Given the description of an element on the screen output the (x, y) to click on. 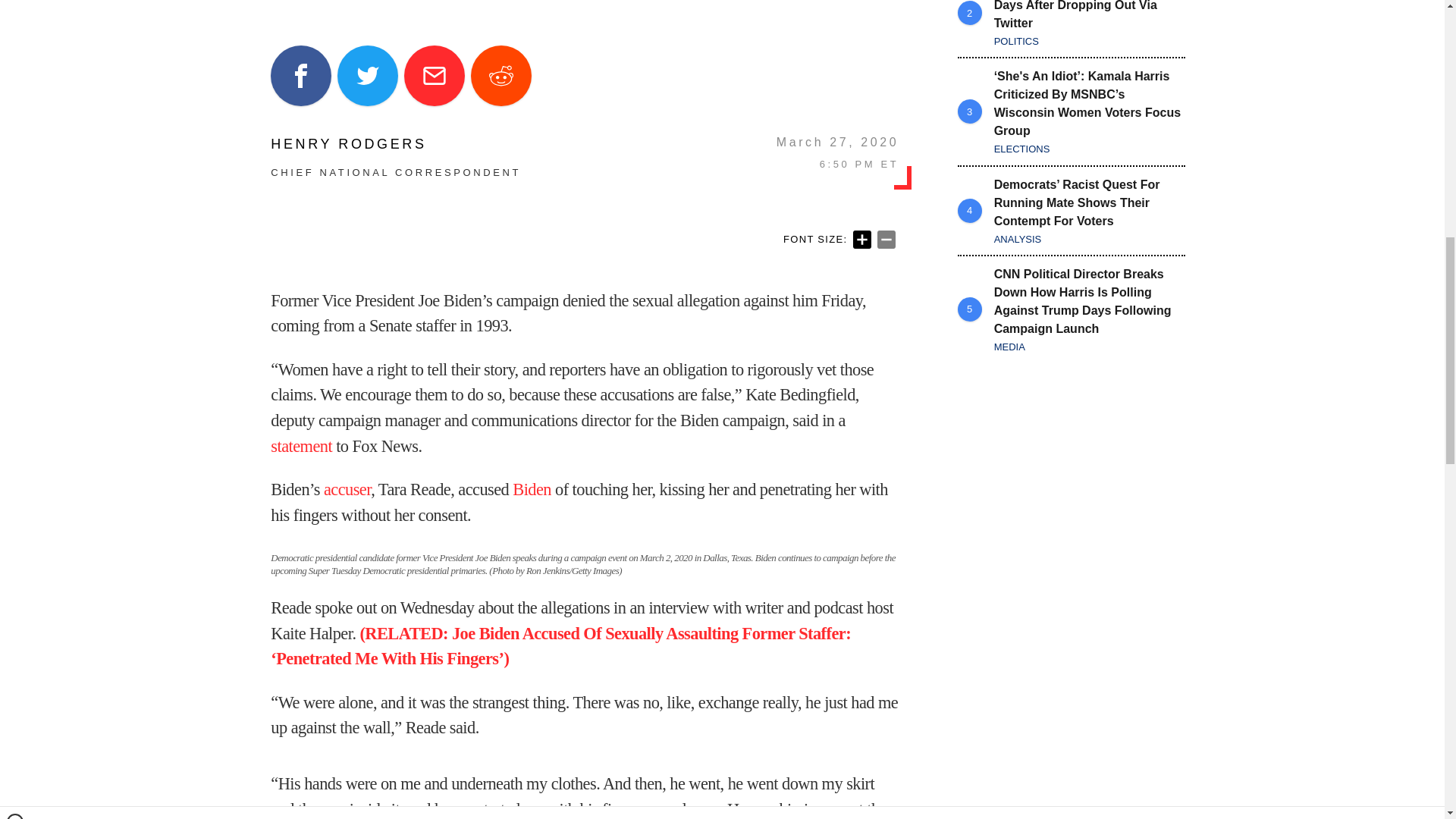
statement (300, 445)
accuser (347, 488)
HENRY RODGERS (395, 144)
View More Articles By Henry Rodgers (395, 144)
Close window (14, 6)
